Given the description of an element on the screen output the (x, y) to click on. 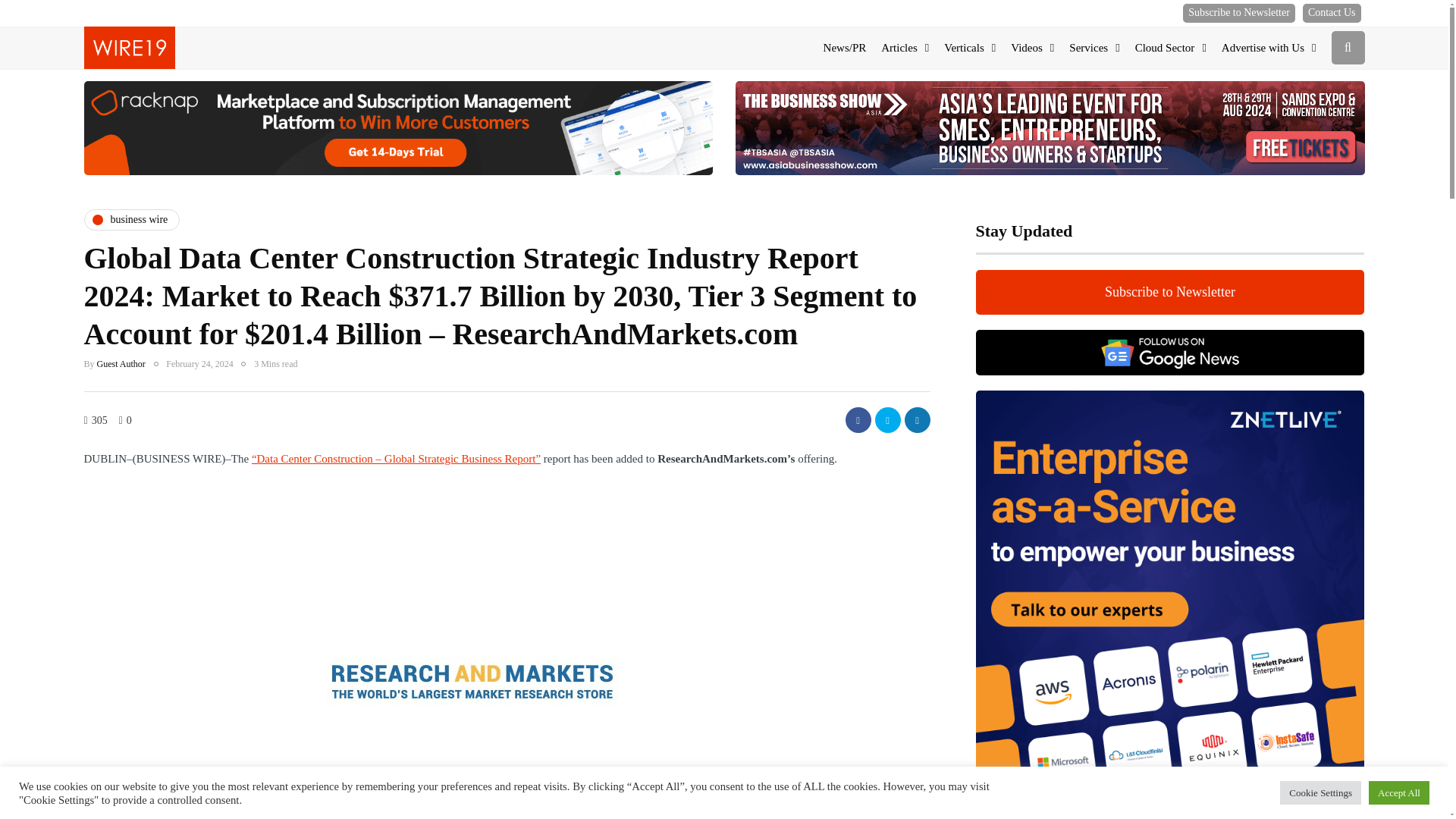
Share with LinkedIn (917, 420)
Tweet this (888, 420)
Videos (1032, 47)
Verticals (969, 47)
Posts by Guest Author (121, 363)
Contact Us (1332, 13)
Services (1093, 47)
Advertise with Us (1268, 47)
Guest Author (121, 363)
Articles (904, 47)
